Given the description of an element on the screen output the (x, y) to click on. 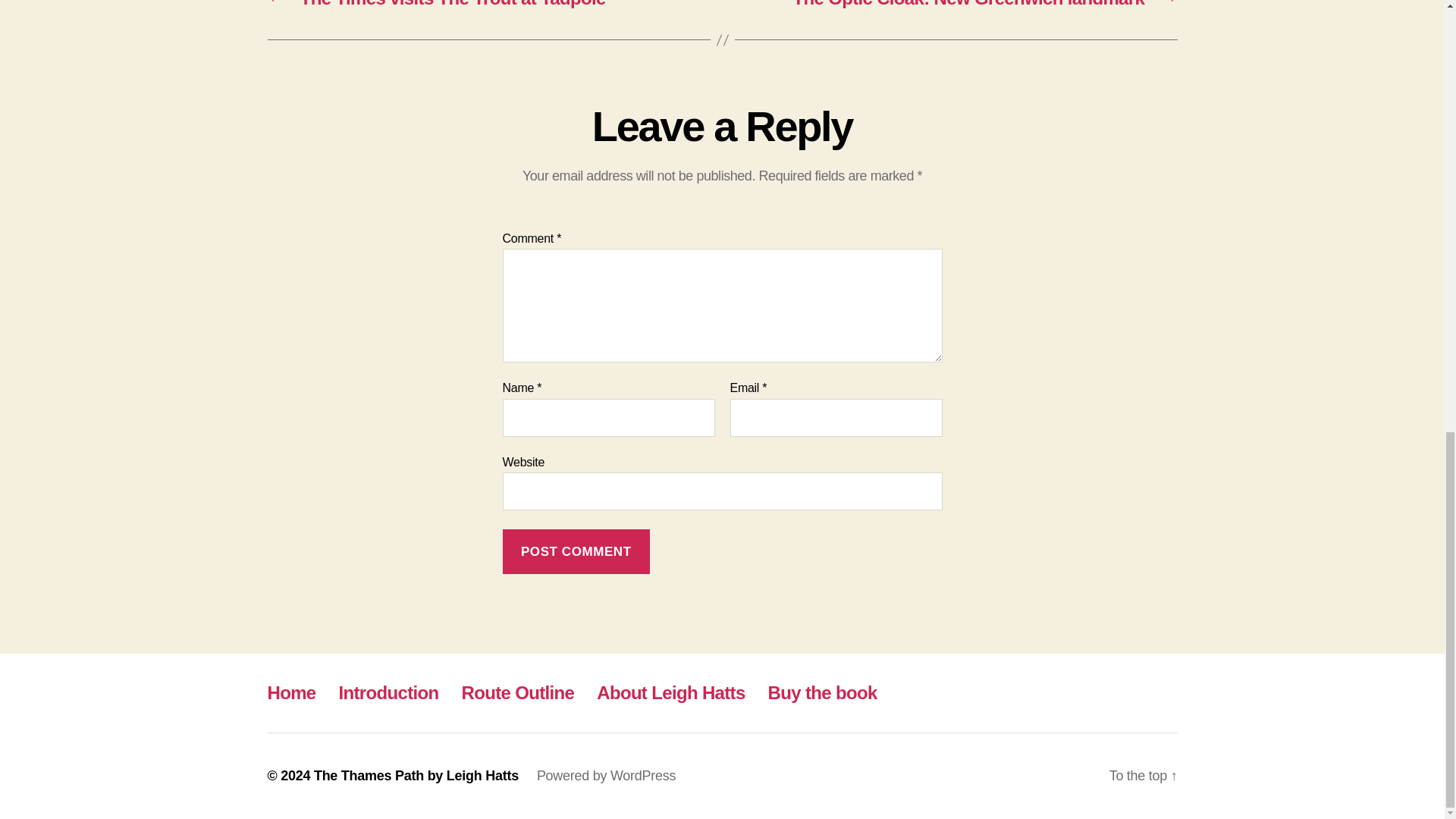
Buy the book (822, 692)
Post Comment (575, 551)
The Thames Path by Leigh Hatts (416, 775)
Powered by WordPress (606, 775)
Post Comment (575, 551)
Introduction (389, 692)
Home (290, 692)
Route Outline (518, 692)
About Leigh Hatts (670, 692)
